Given the description of an element on the screen output the (x, y) to click on. 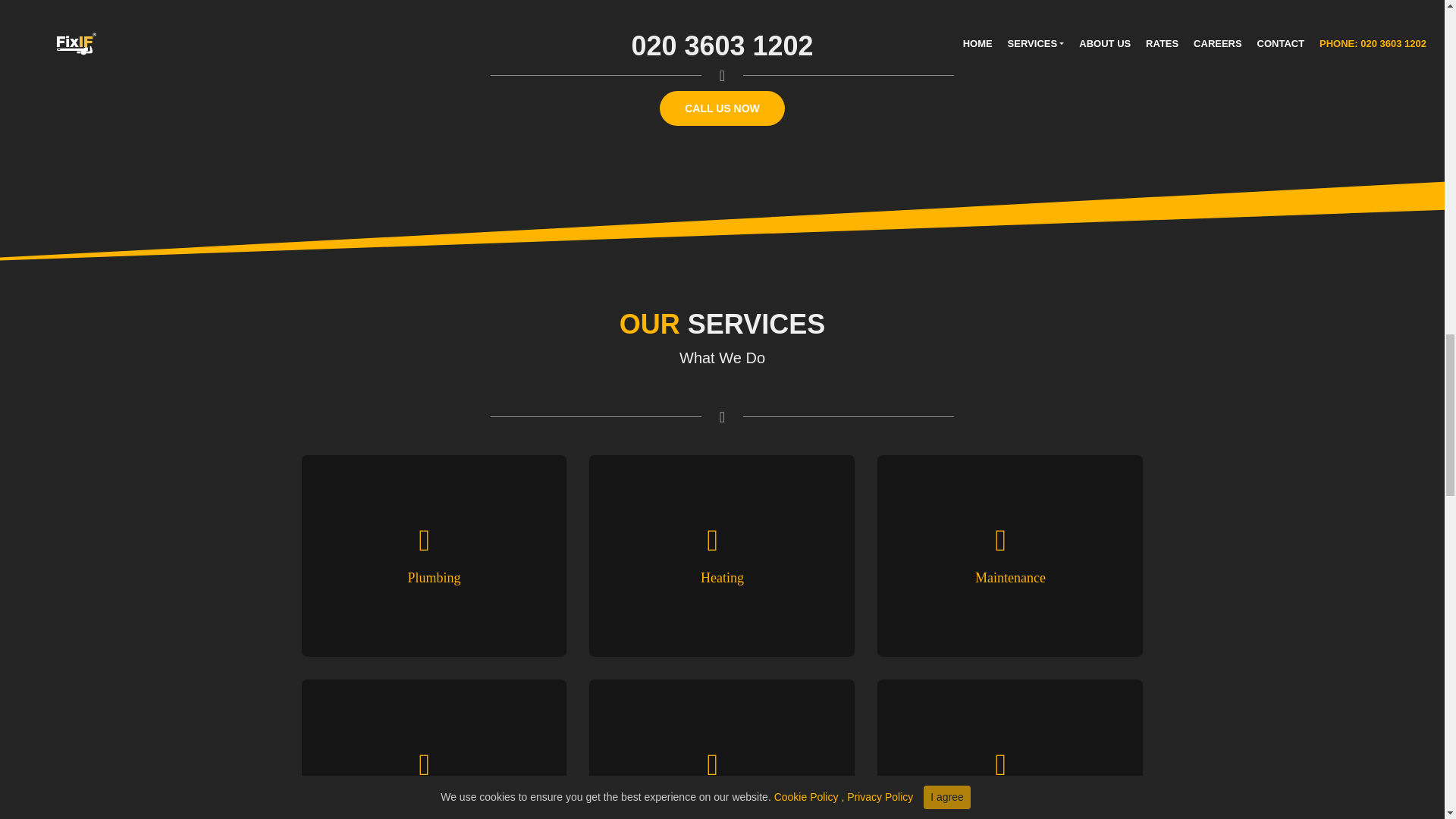
CALL US NOW (721, 108)
Find out more (487, 614)
020 3603 1202 (721, 45)
CONTACT (1066, 614)
Phone FixIF (721, 45)
PLUMBING (487, 614)
HEATING (780, 597)
Phone FixIF (721, 108)
Find out more (1066, 614)
Find out more (780, 597)
